Given the description of an element on the screen output the (x, y) to click on. 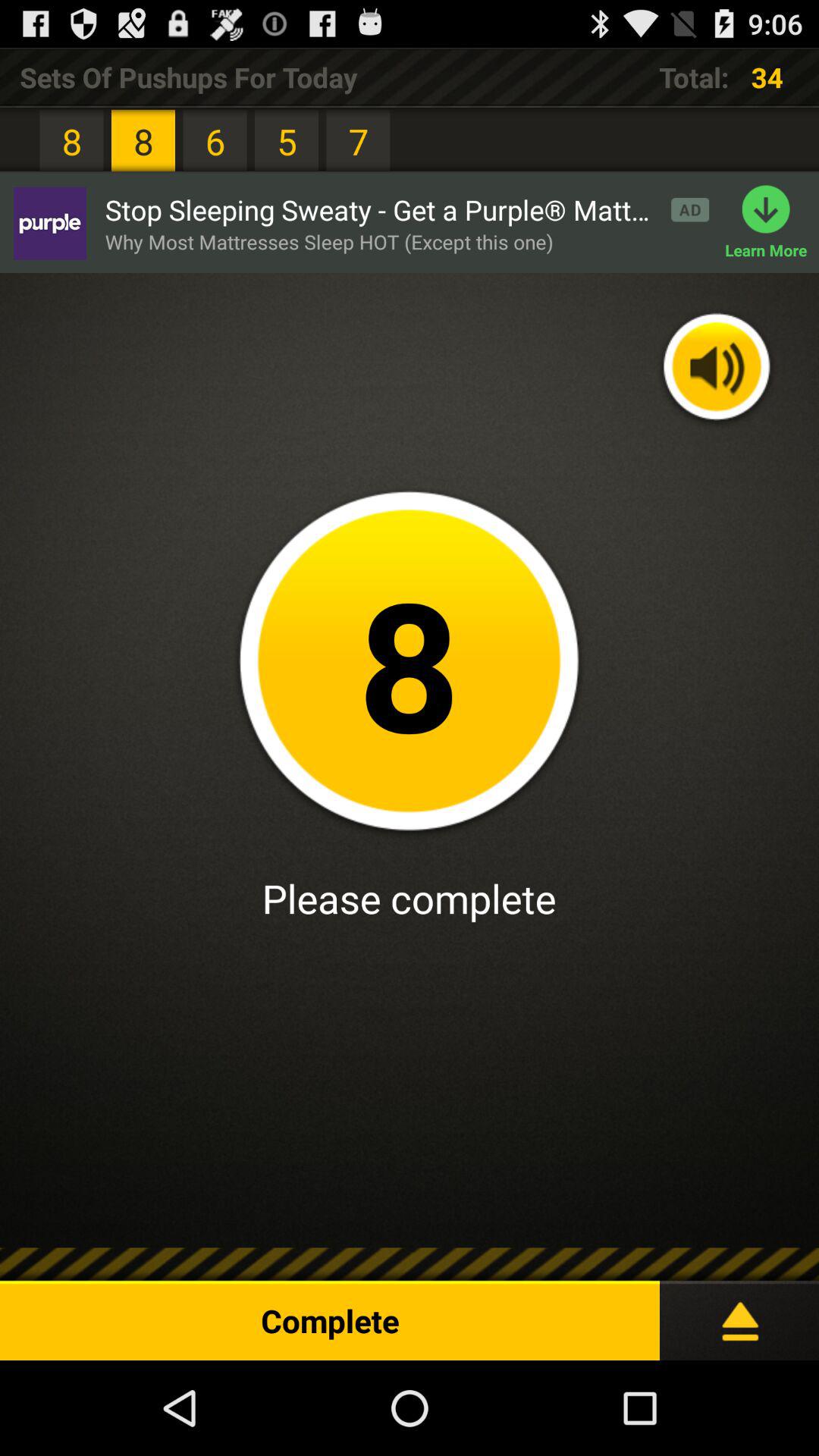
select the app below the 8 icon (49, 222)
